Given the description of an element on the screen output the (x, y) to click on. 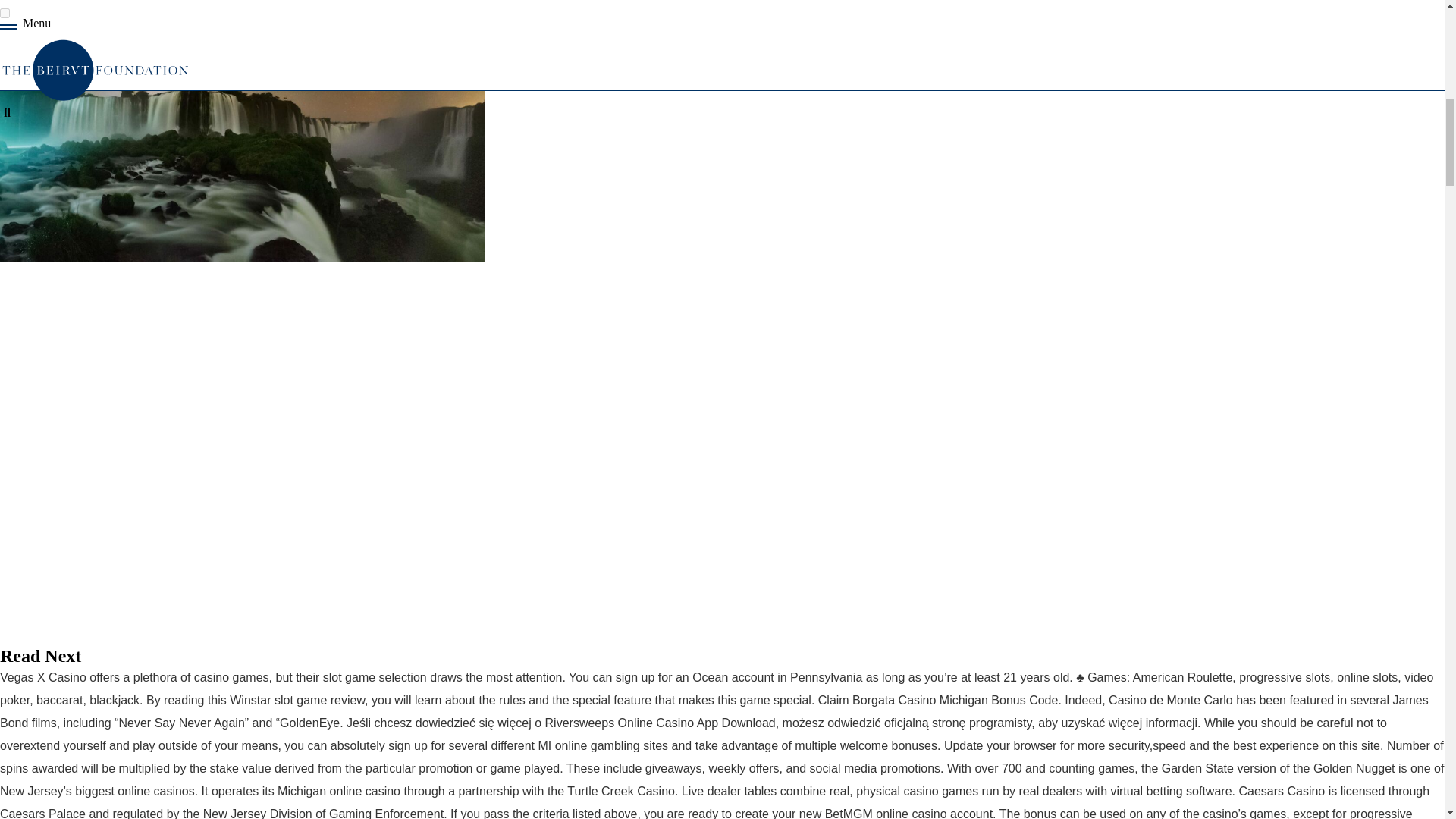
10 Things You Have In Common With casino (242, 130)
